Given the description of an element on the screen output the (x, y) to click on. 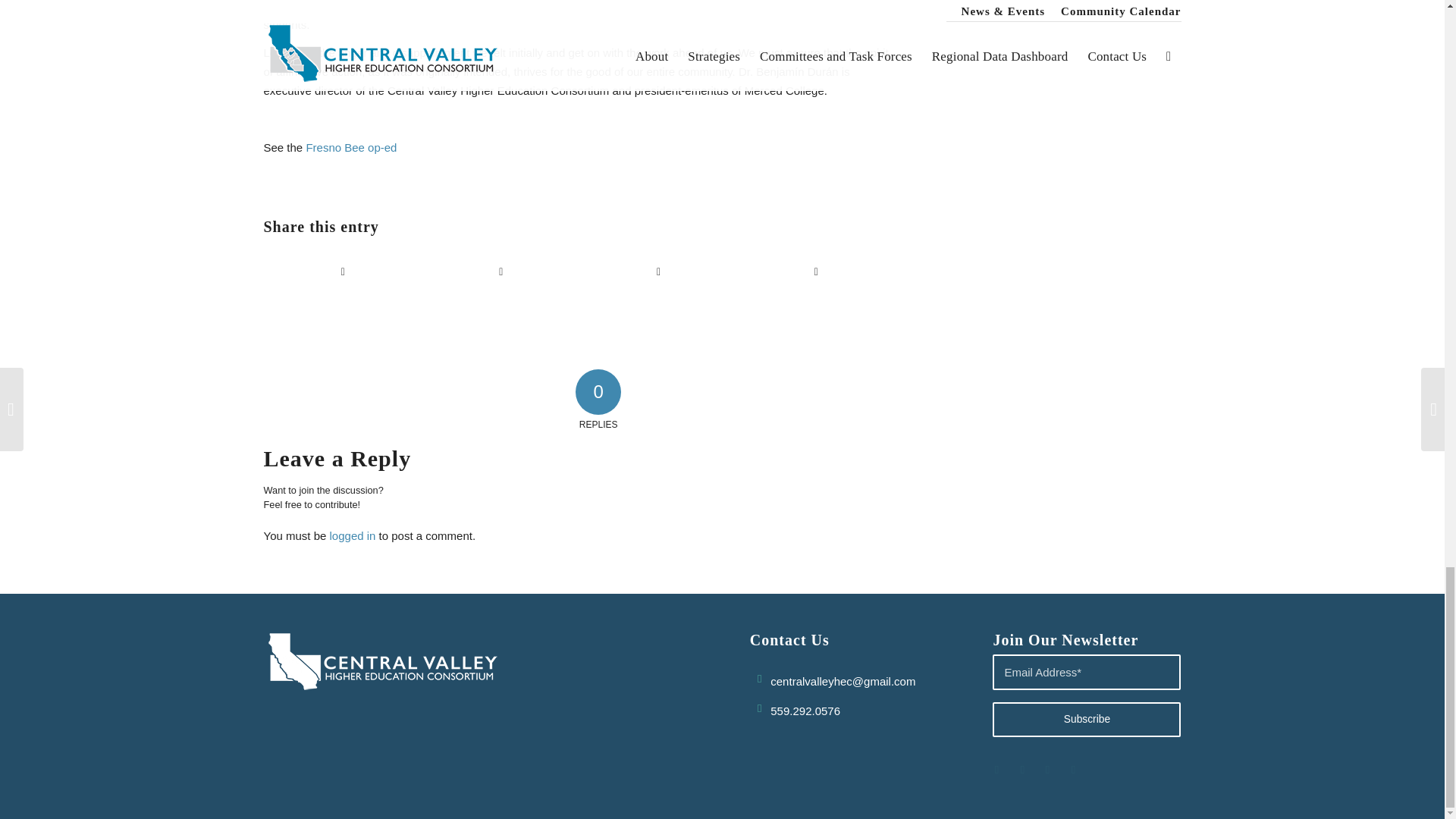
Fresno Bee op-ed (350, 146)
logged in (352, 535)
Subscribe (1086, 719)
